Given the description of an element on the screen output the (x, y) to click on. 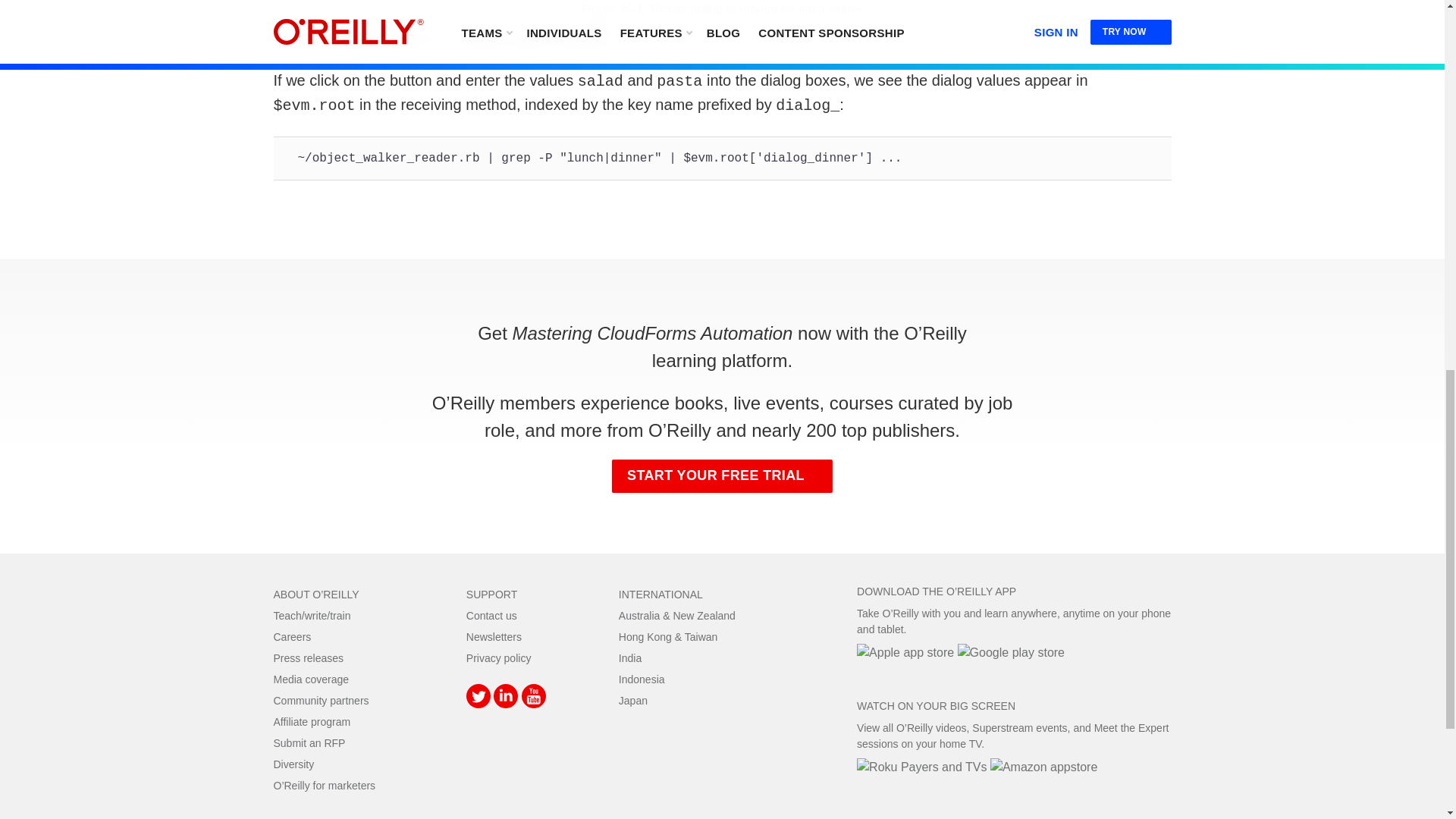
SUPPORT (490, 594)
Media coverage (311, 679)
Press releases (308, 657)
Contact us (490, 615)
START YOUR FREE TRIAL (721, 476)
Careers (292, 636)
Submit an RFP (309, 743)
Community partners (320, 700)
Diversity (293, 764)
Affiliate program (311, 721)
